Given the description of an element on the screen output the (x, y) to click on. 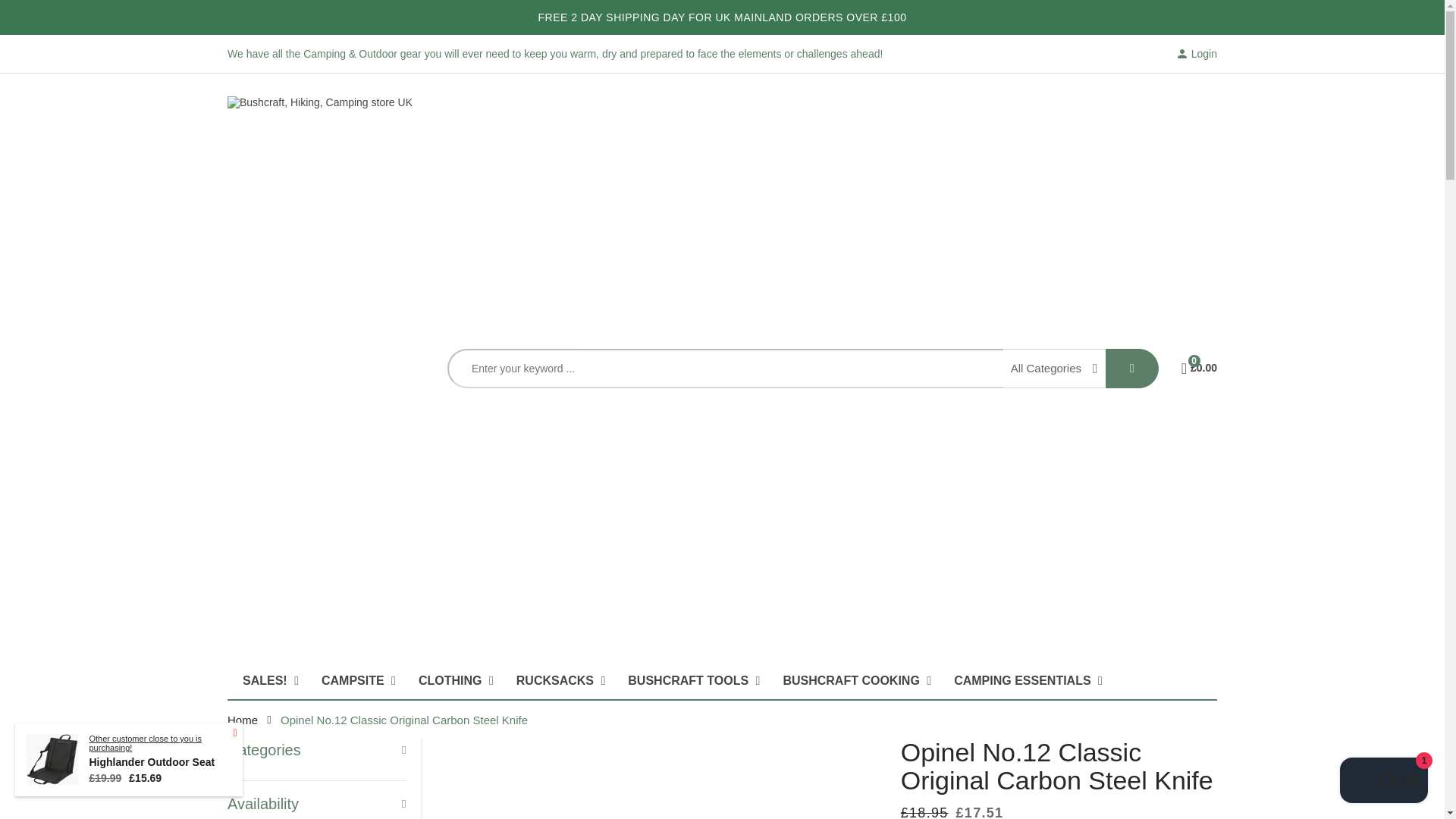
Back to the frontpage (242, 718)
Login (1195, 54)
Shopify online store chat (1383, 781)
